Given the description of an element on the screen output the (x, y) to click on. 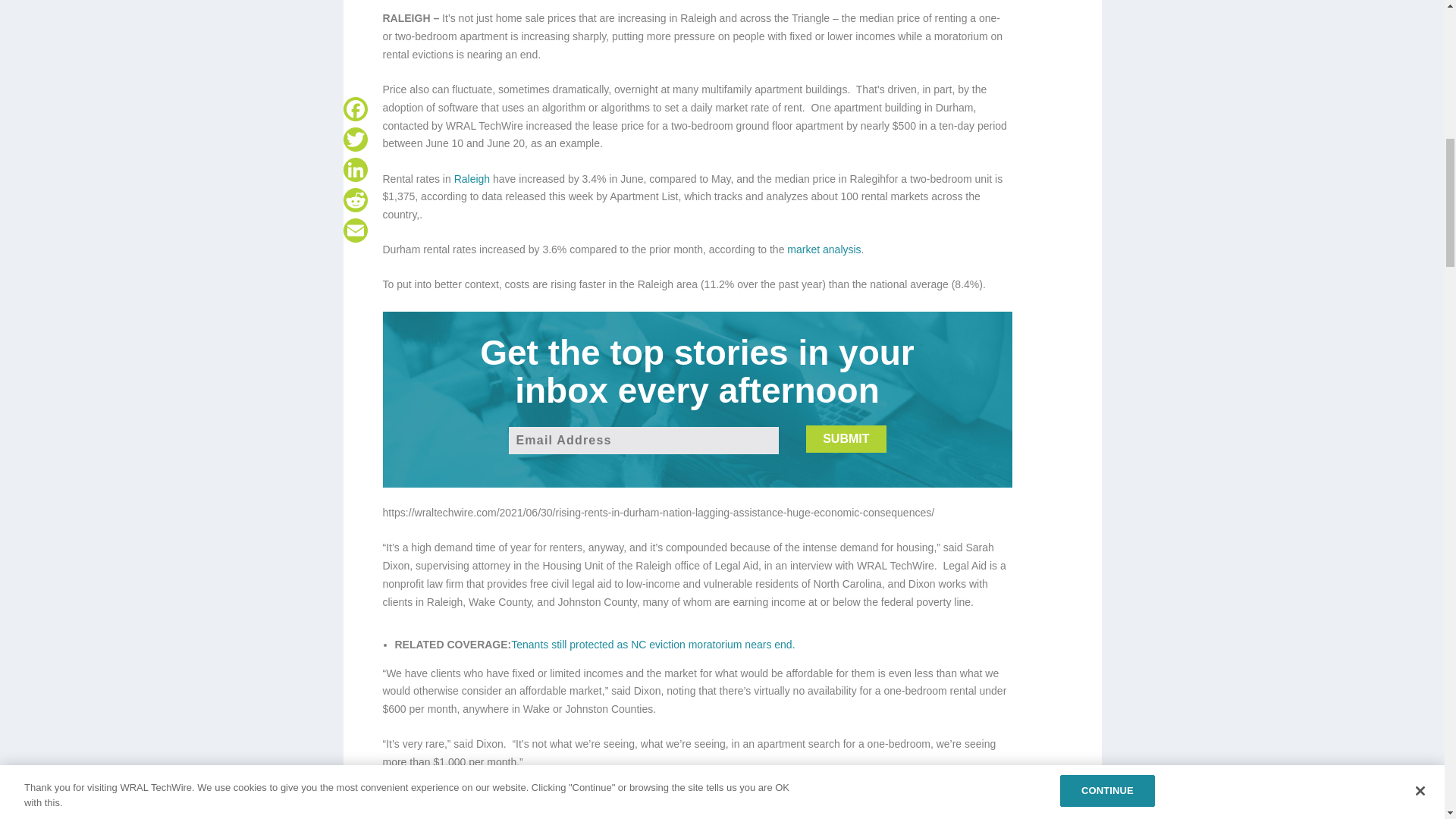
SUBMIT (845, 438)
